Given the description of an element on the screen output the (x, y) to click on. 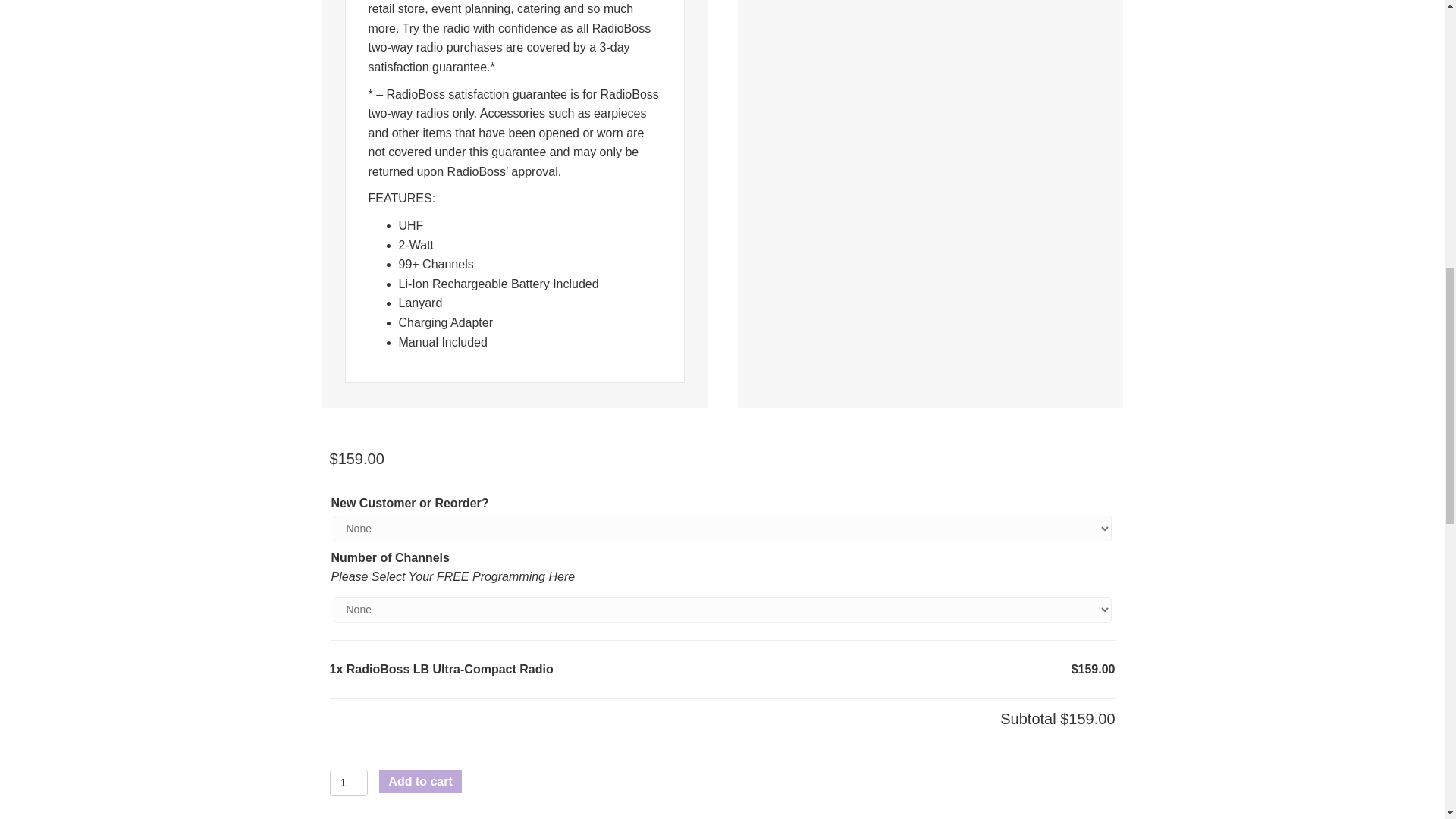
Add to cart (419, 781)
1 (348, 782)
